Given the description of an element on the screen output the (x, y) to click on. 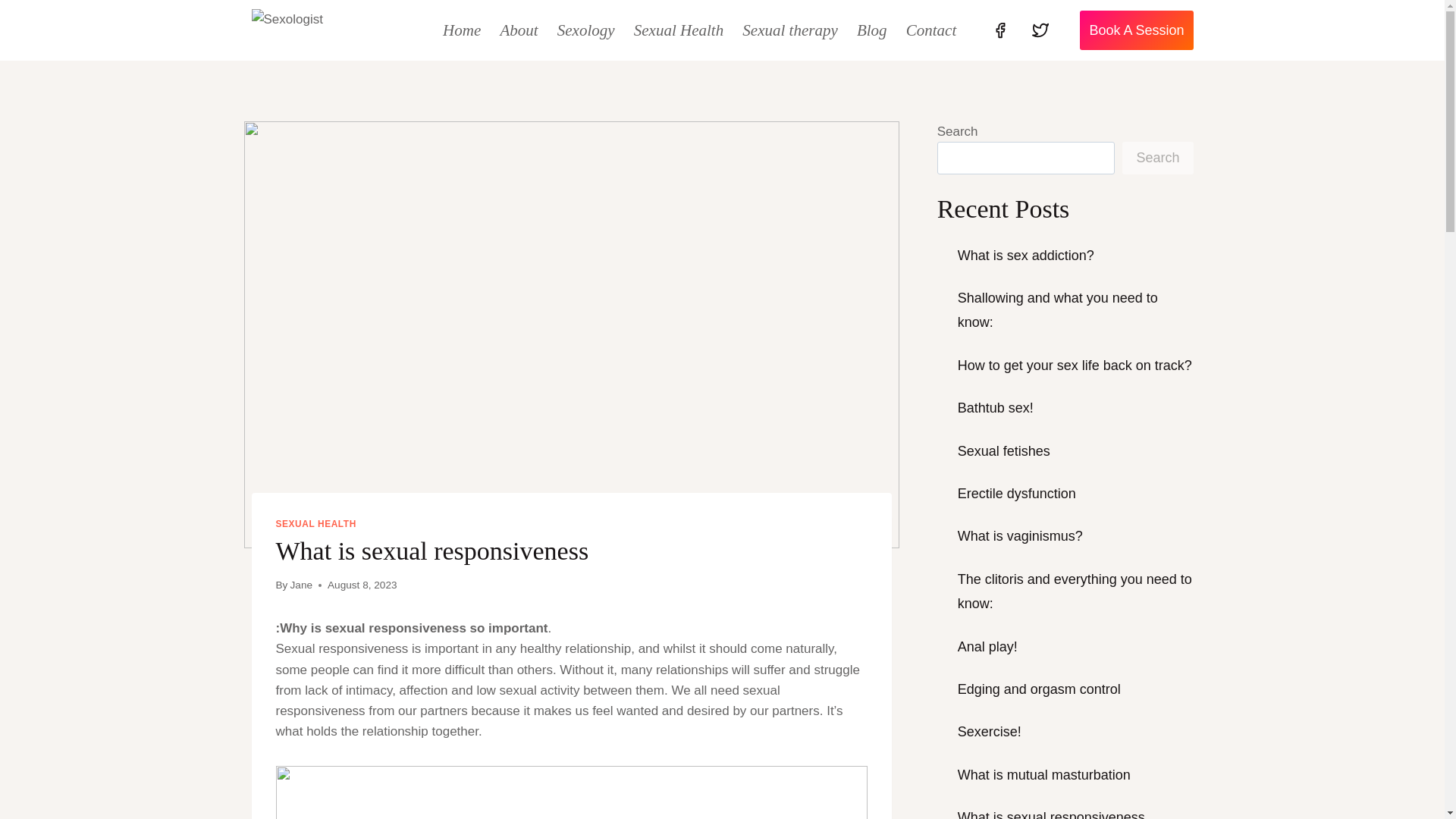
Book A Session (1136, 30)
Home (461, 30)
SEXUAL HEALTH (316, 523)
Blog (871, 30)
Jane (301, 584)
Sexology (585, 30)
Sexual Health (678, 30)
About (518, 30)
Contact (931, 30)
Sexual therapy (790, 30)
